Given the description of an element on the screen output the (x, y) to click on. 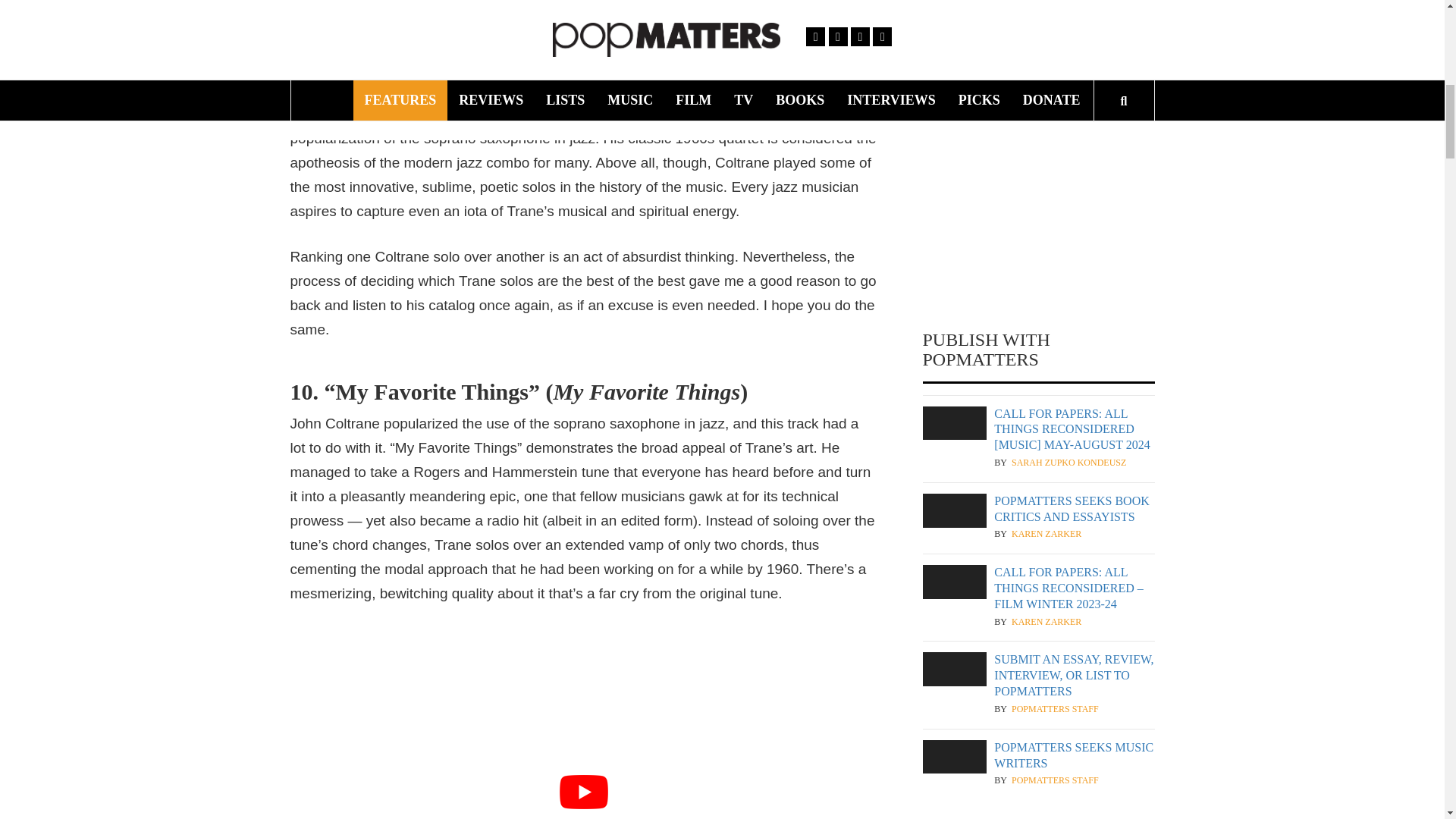
Evan Sawdey (1043, 7)
Hank Kennedy (1047, 94)
Sarah Zupko Kondeusz (1068, 462)
